Given the description of an element on the screen output the (x, y) to click on. 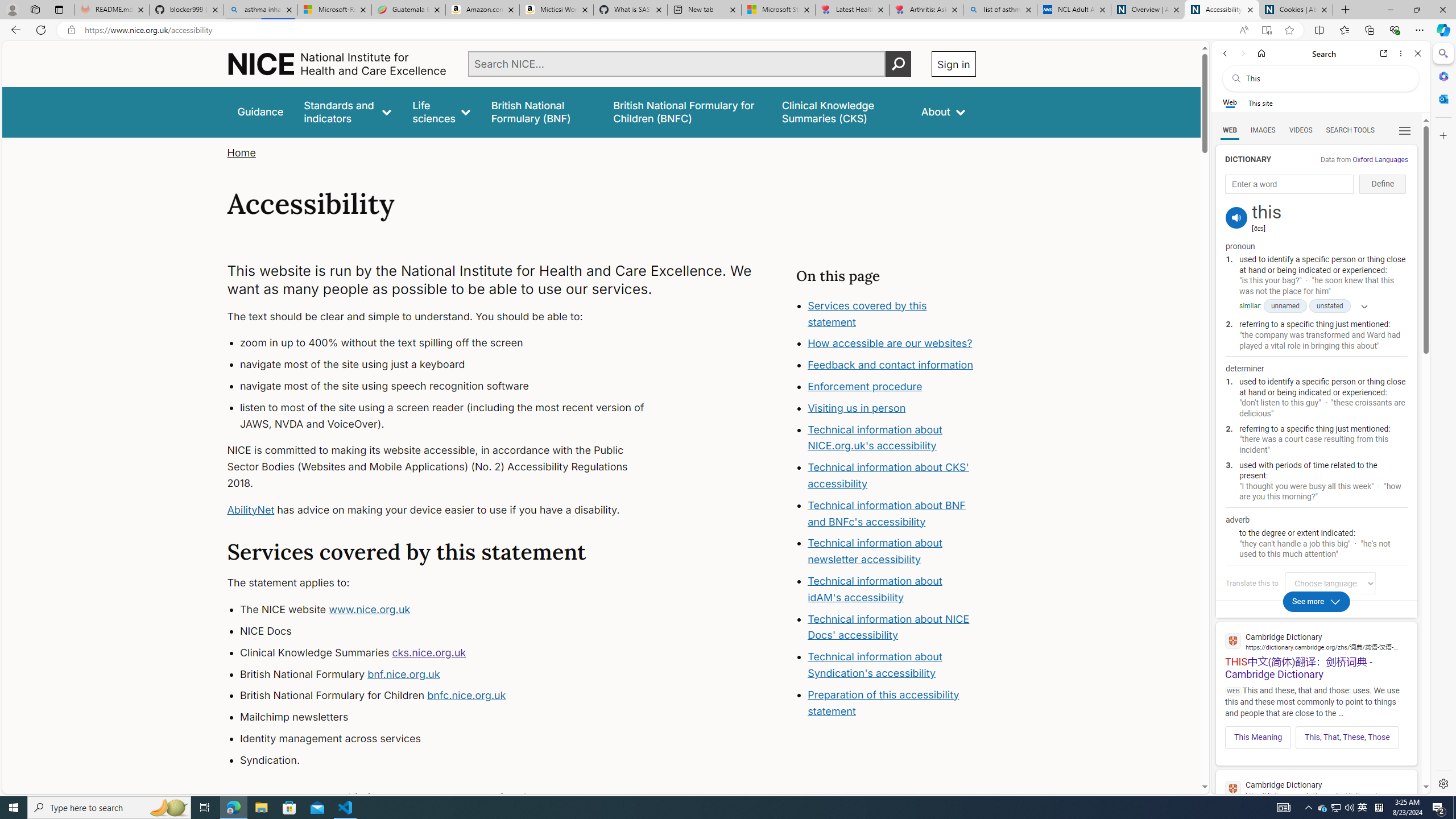
Services covered by this statement (867, 313)
Cambridge Dictionary (1315, 788)
This Meaning (1257, 737)
Perform search (898, 63)
pronounce (1236, 217)
Clinical Knowledge Summaries cks.nice.org.uk (452, 652)
Preparation of this accessibility statement (883, 702)
